Given the description of an element on the screen output the (x, y) to click on. 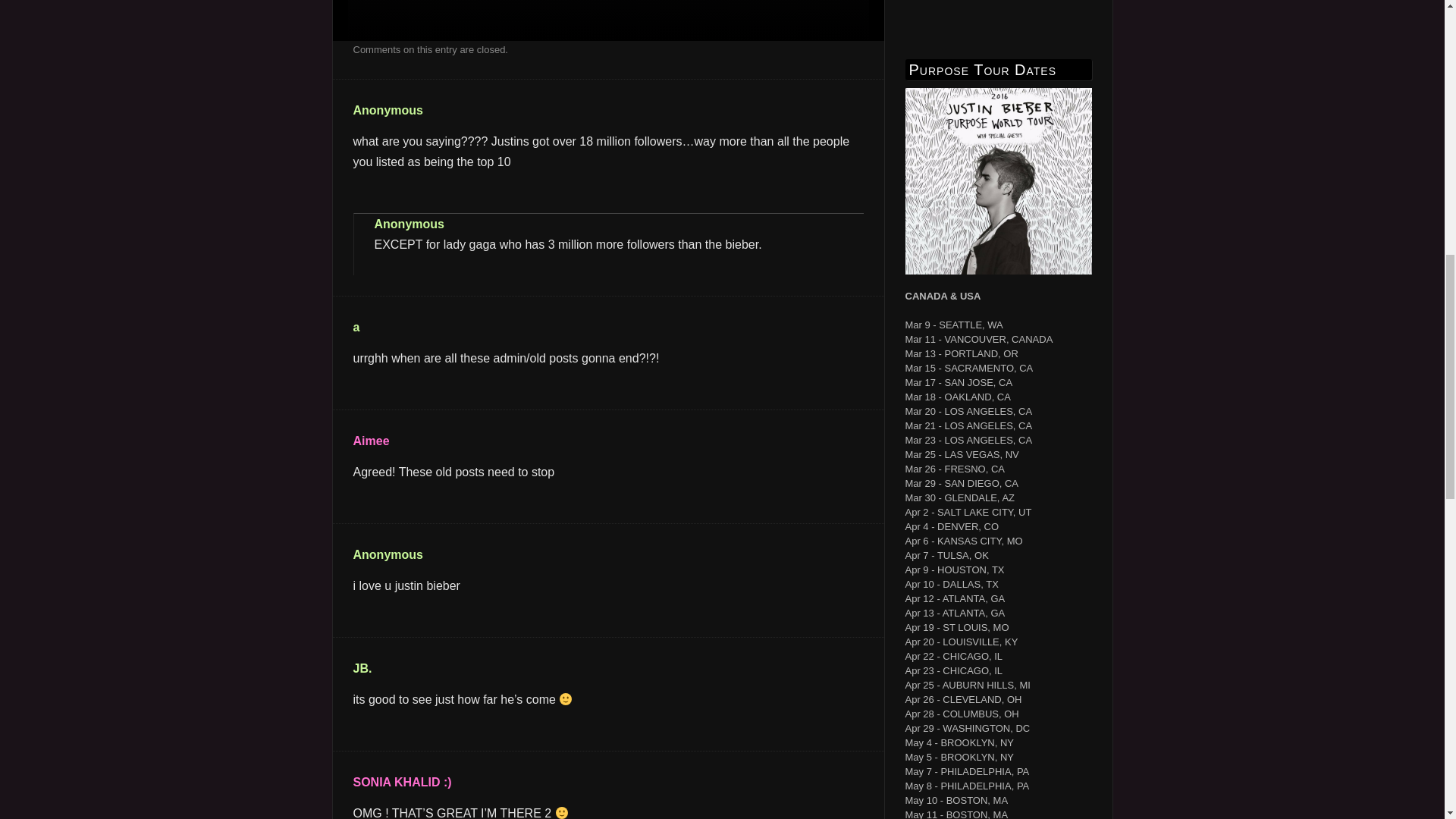
Aimee (371, 440)
